Given the description of an element on the screen output the (x, y) to click on. 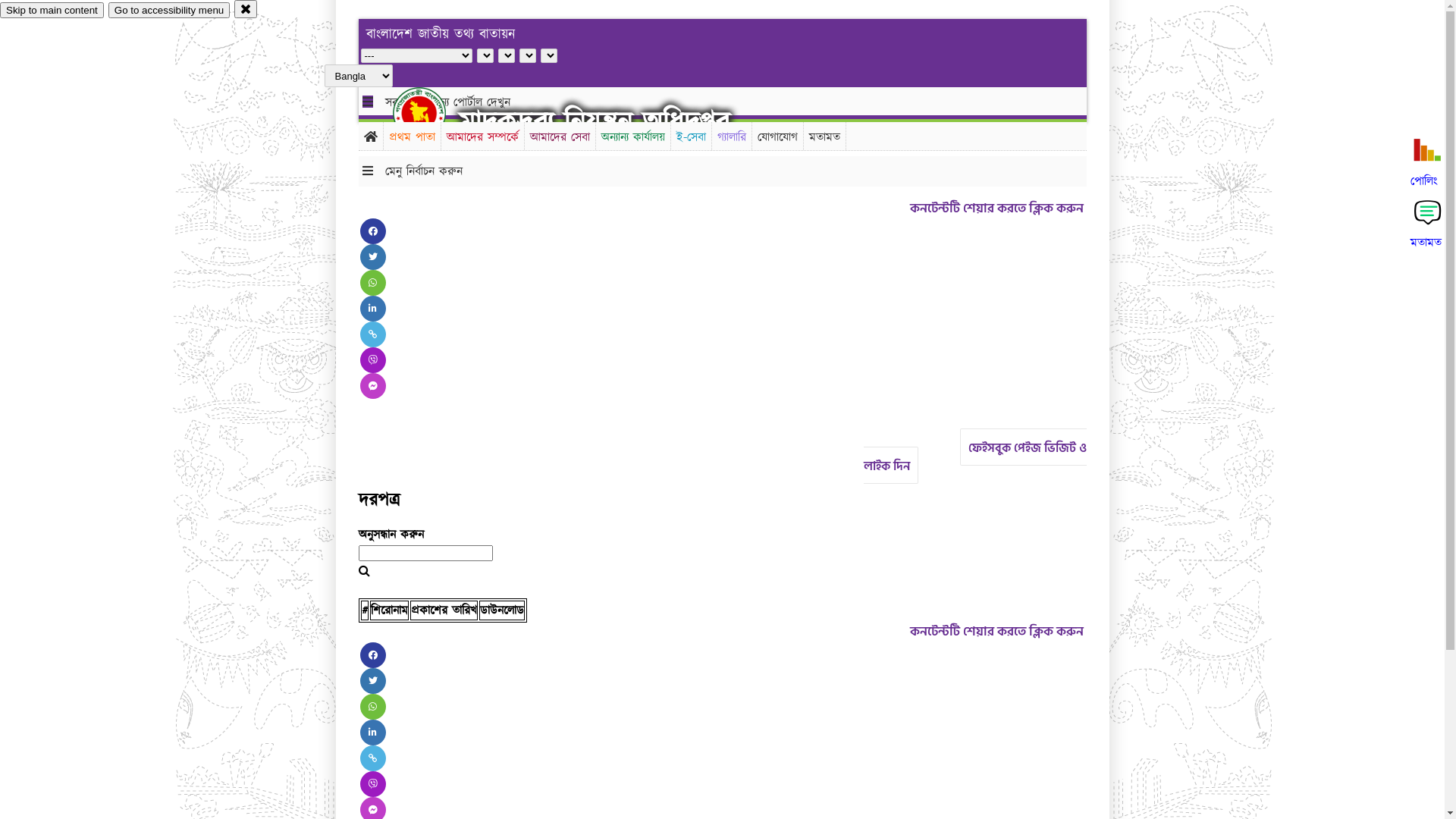
close Element type: hover (245, 9)

                
             Element type: hover (431, 112)
Skip to main content Element type: text (51, 10)
Go to accessibility menu Element type: text (168, 10)
